Given the description of an element on the screen output the (x, y) to click on. 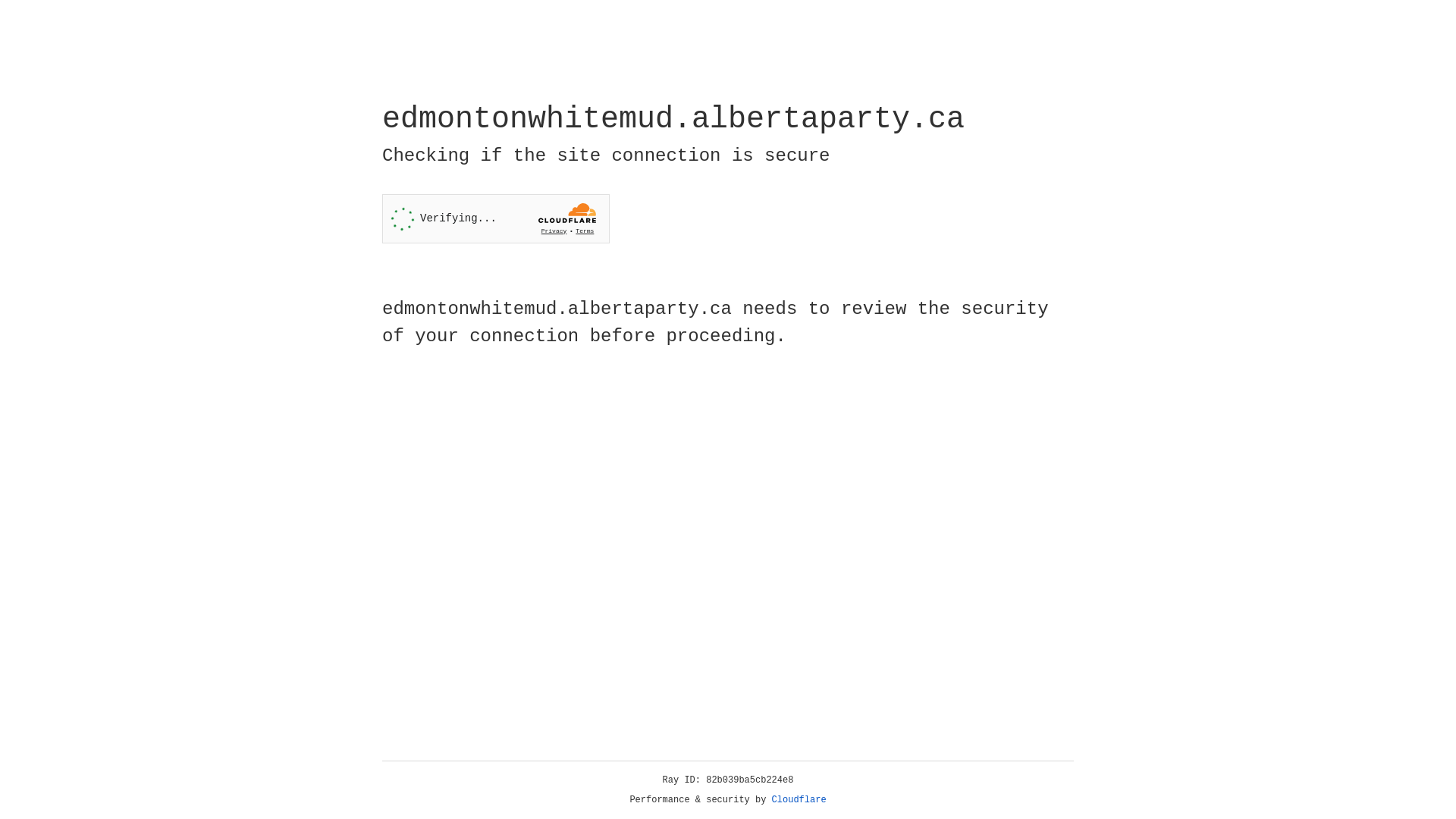
Cloudflare Element type: text (798, 799)
Widget containing a Cloudflare security challenge Element type: hover (495, 218)
